Given the description of an element on the screen output the (x, y) to click on. 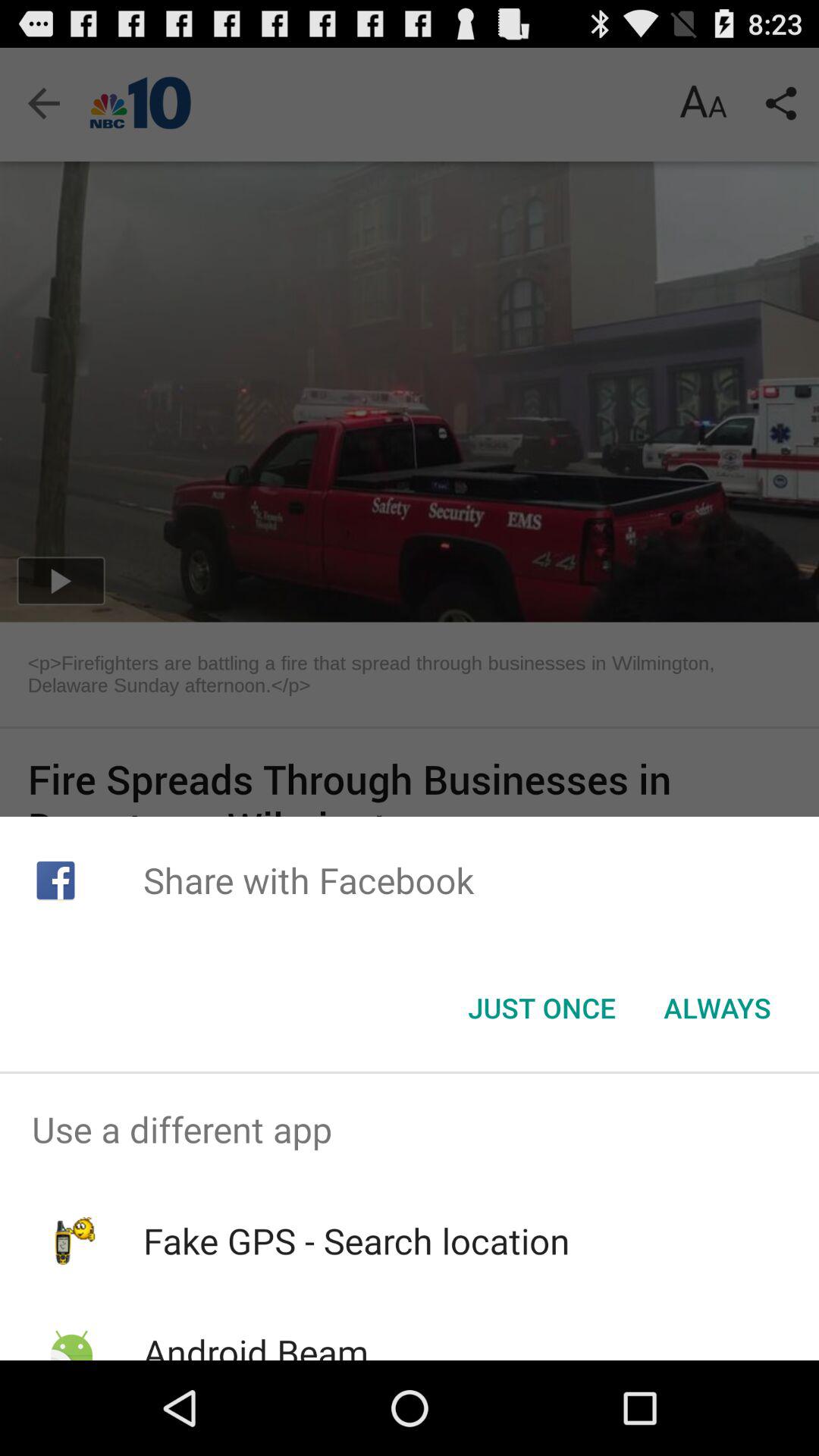
press android beam item (255, 1344)
